Given the description of an element on the screen output the (x, y) to click on. 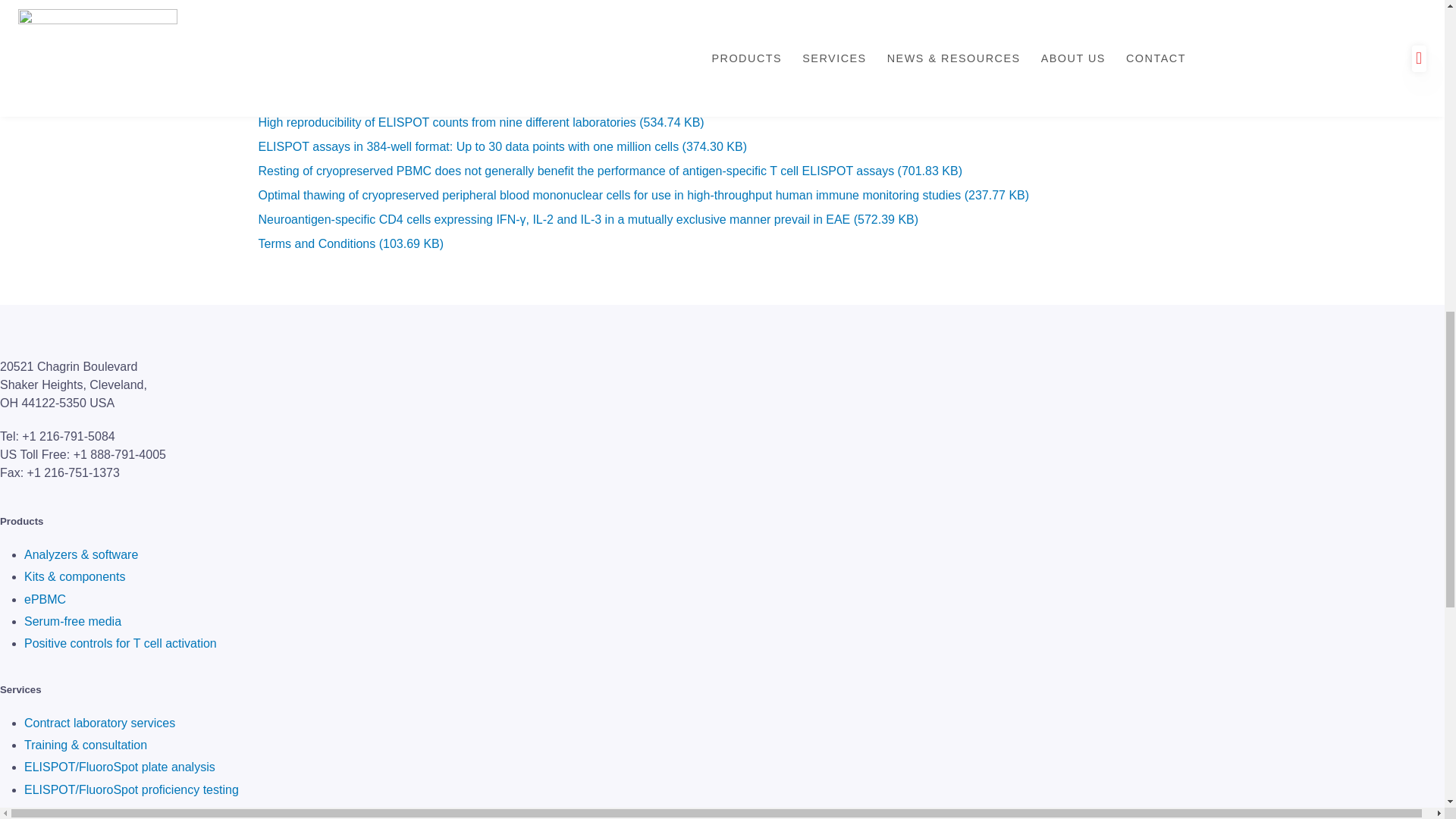
Terms and Conditions (350, 244)
96-well-counting (335, 31)
ImmunoSpot T Cell Kits Brochure (381, 55)
